Given the description of an element on the screen output the (x, y) to click on. 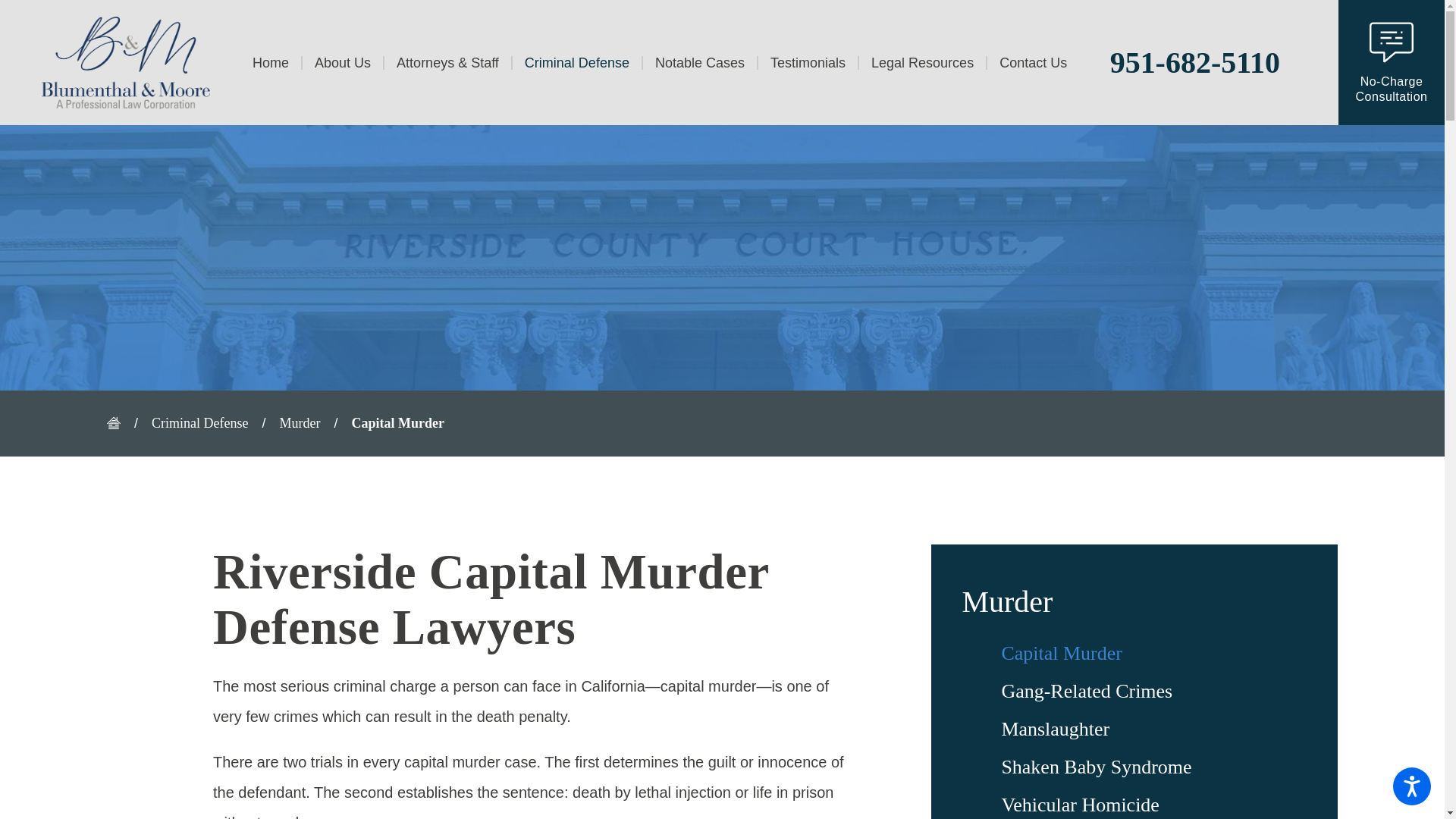
Home (276, 62)
Go Home (119, 422)
Open the accessibility options menu (1412, 786)
Blumenthal Law Offices (125, 62)
Criminal Defense (576, 62)
About Us (341, 62)
